Given the description of an element on the screen output the (x, y) to click on. 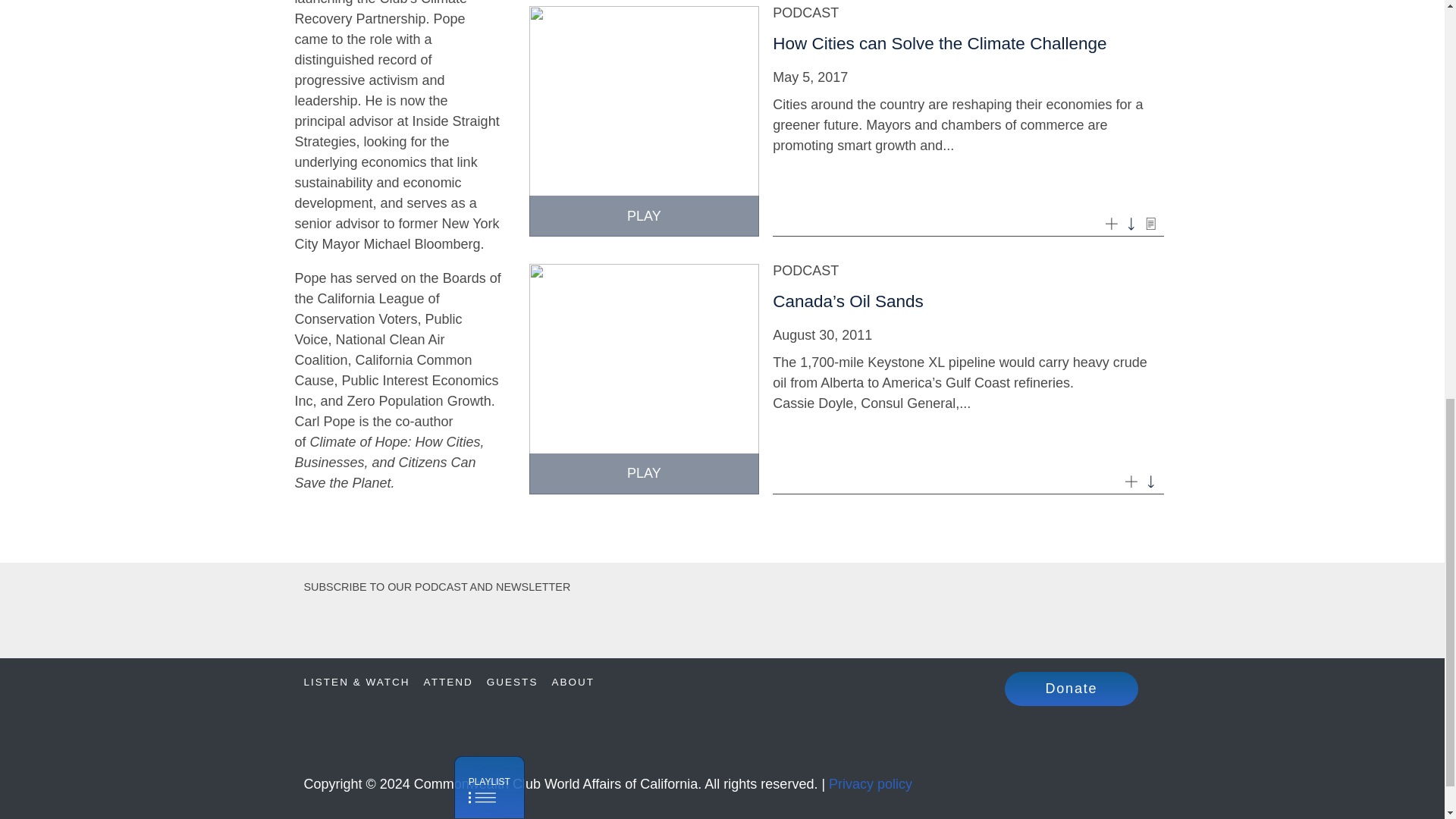
Add to Playlist (1111, 222)
Download transcript as PDF (1150, 222)
Add to Playlist (1130, 480)
Download audio (1150, 480)
Download audio (1130, 222)
